Given the description of an element on the screen output the (x, y) to click on. 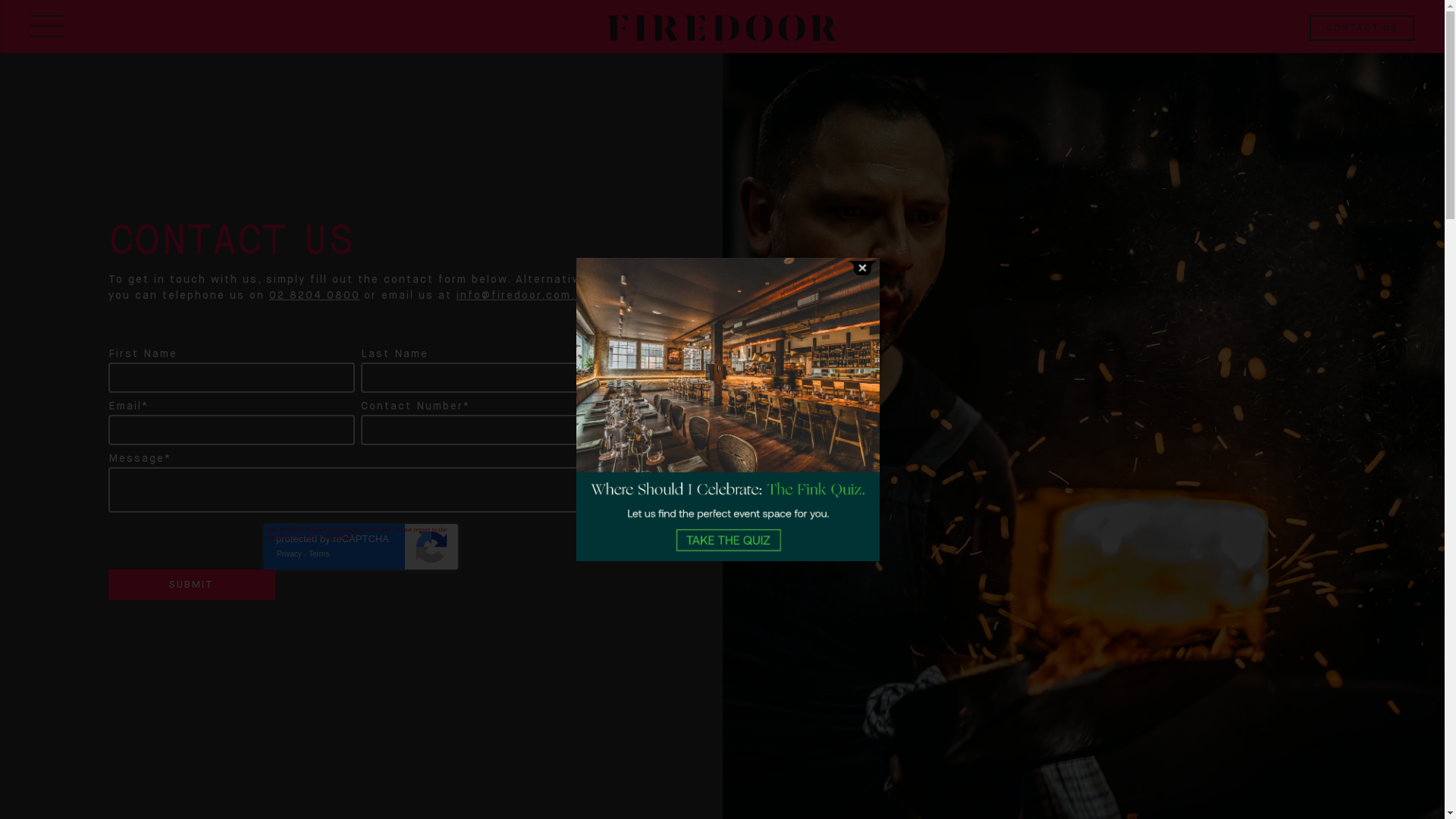
Close Element type: hover (861, 267)
reCAPTCHA Element type: hover (360, 546)
info@firedoor.com.au Element type: text (523, 295)
CONTACT US Element type: text (1361, 27)
02 8204 0800 Element type: text (314, 295)
Submit Element type: text (191, 584)
